Given the description of an element on the screen output the (x, y) to click on. 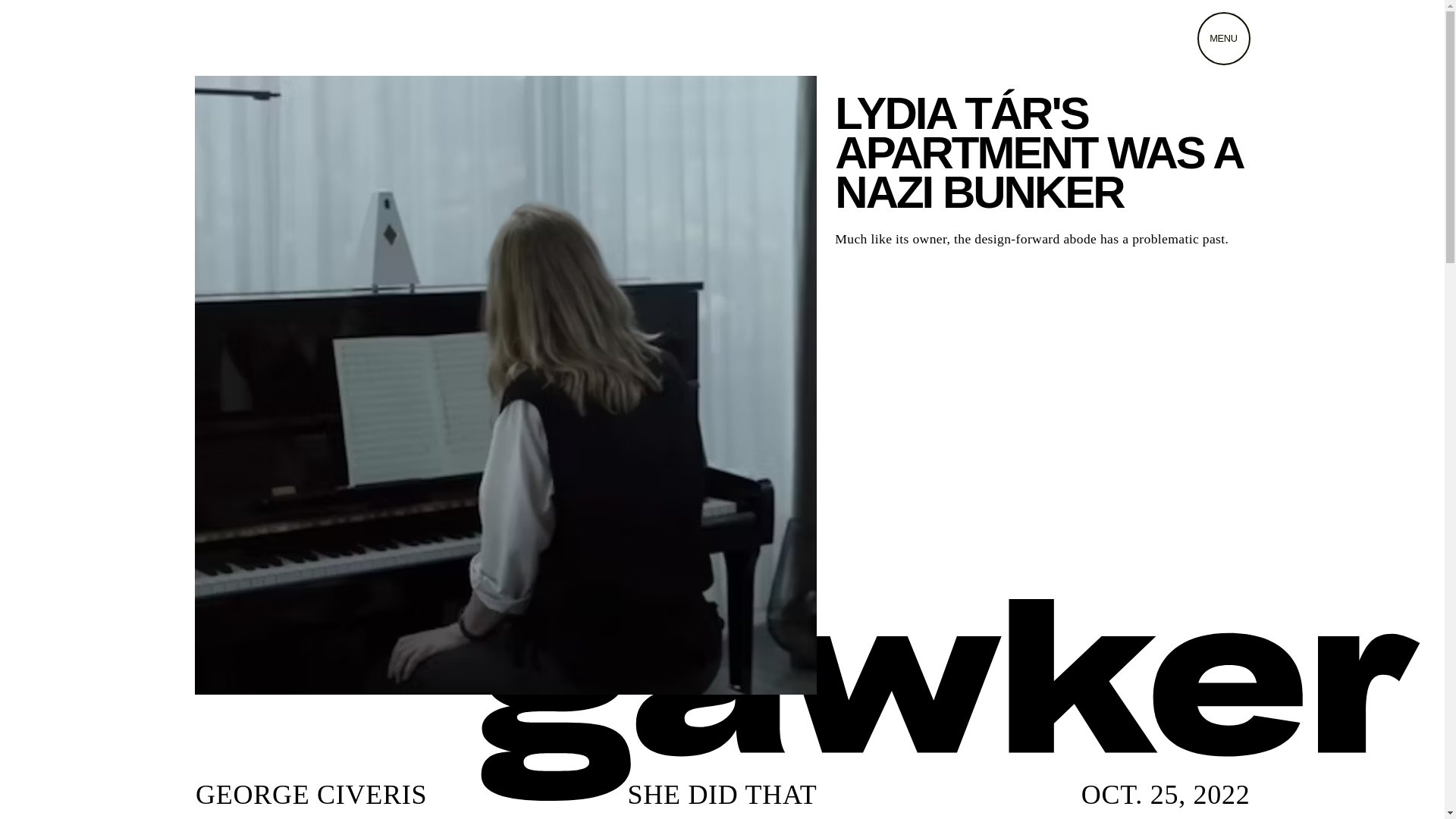
GEORGE CIVERIS (310, 794)
